Given the description of an element on the screen output the (x, y) to click on. 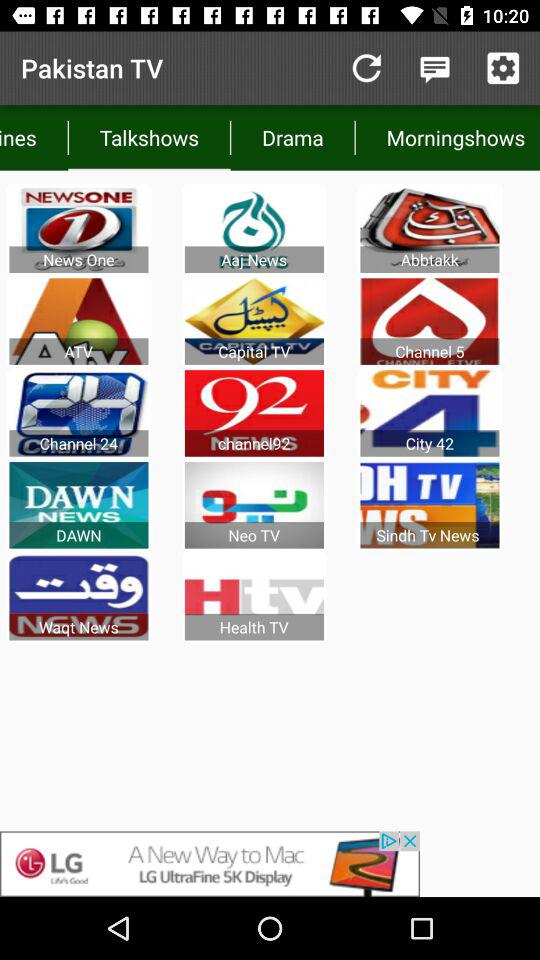
refresh page (366, 67)
